Given the description of an element on the screen output the (x, y) to click on. 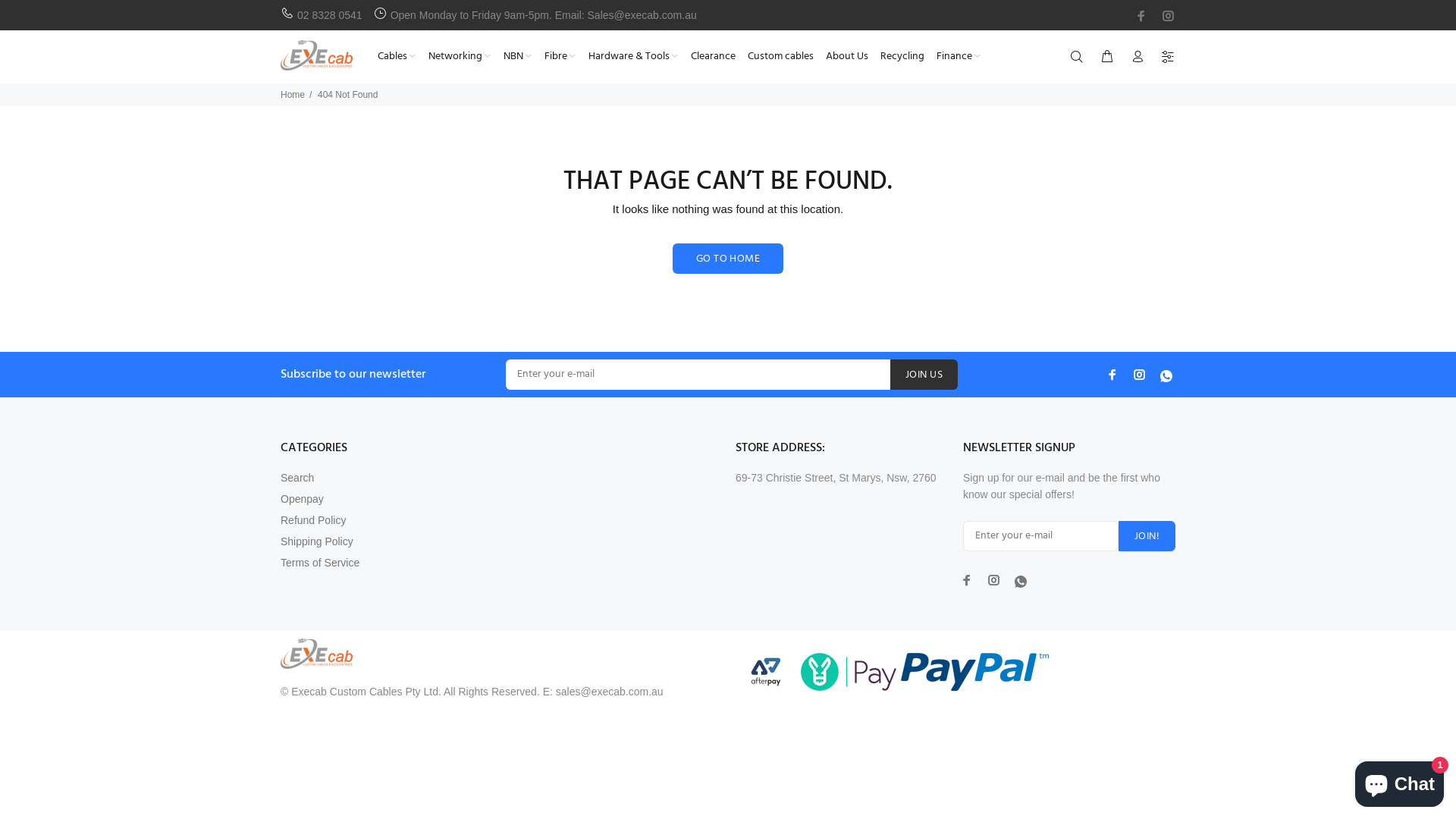
Shopify online store chat Element type: hover (1399, 780)
Openpay Element type: text (301, 498)
About Us Element type: text (846, 56)
Search Element type: text (296, 477)
JOIN US Element type: text (923, 374)
Finance Element type: text (955, 56)
Cables Element type: text (395, 56)
Home Element type: text (292, 94)
Networking Element type: text (459, 56)
Fibre Element type: text (560, 56)
Clearance Element type: text (712, 56)
Refund Policy Element type: text (312, 519)
GO TO HOME Element type: text (727, 258)
Terms of Service Element type: text (319, 562)
Custom cables Element type: text (780, 56)
Hardware & Tools Element type: text (633, 56)
Shipping Policy Element type: text (316, 541)
NBN Element type: text (517, 56)
Recycling Element type: text (902, 56)
JOIN! Element type: text (1146, 535)
